Given the description of an element on the screen output the (x, y) to click on. 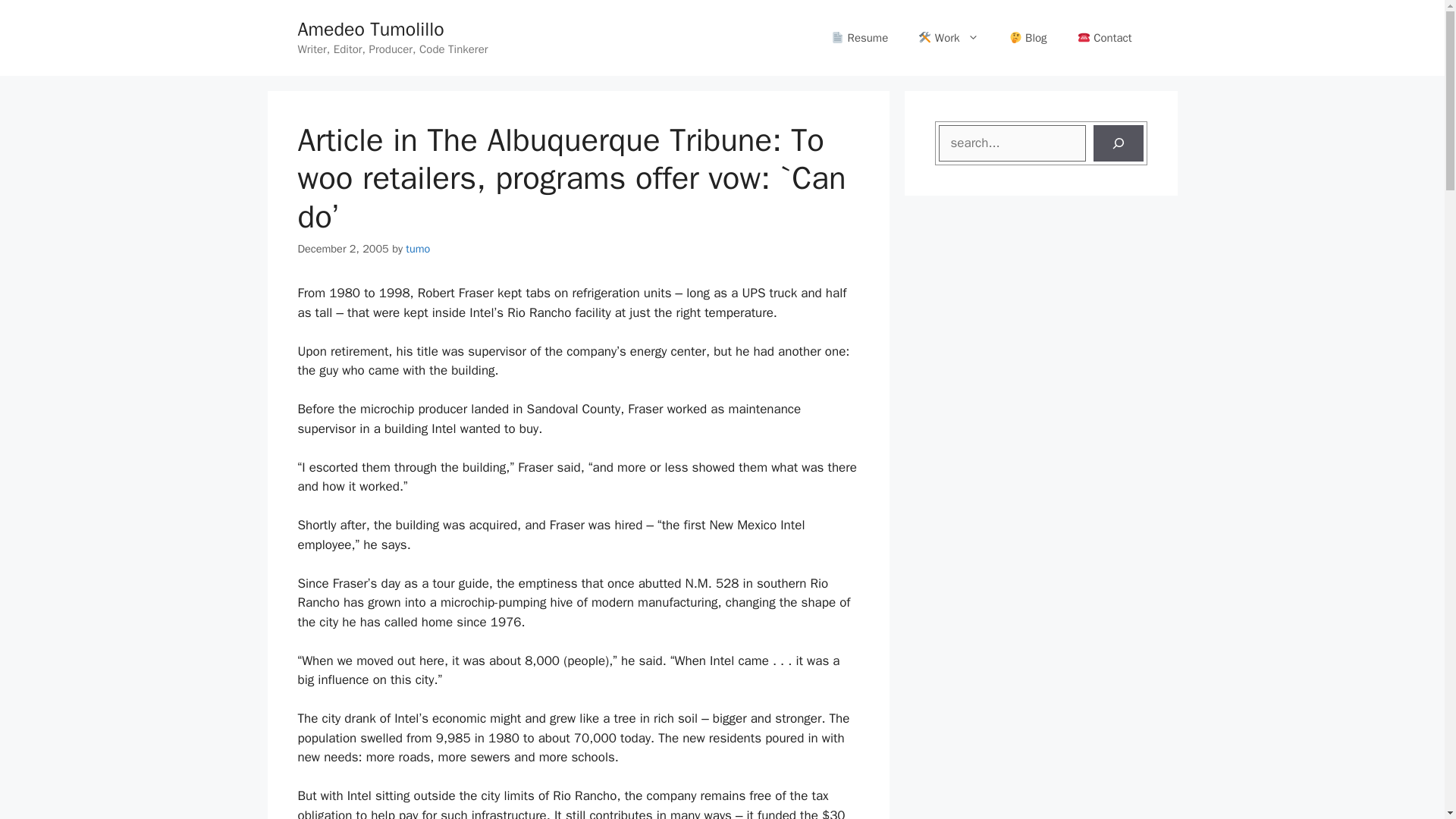
View all posts by tumo (417, 248)
Blog (1028, 37)
Work (947, 37)
Amedeo Tumolillo (370, 28)
tumo (417, 248)
Contact (1104, 37)
Resume (858, 37)
